Given the description of an element on the screen output the (x, y) to click on. 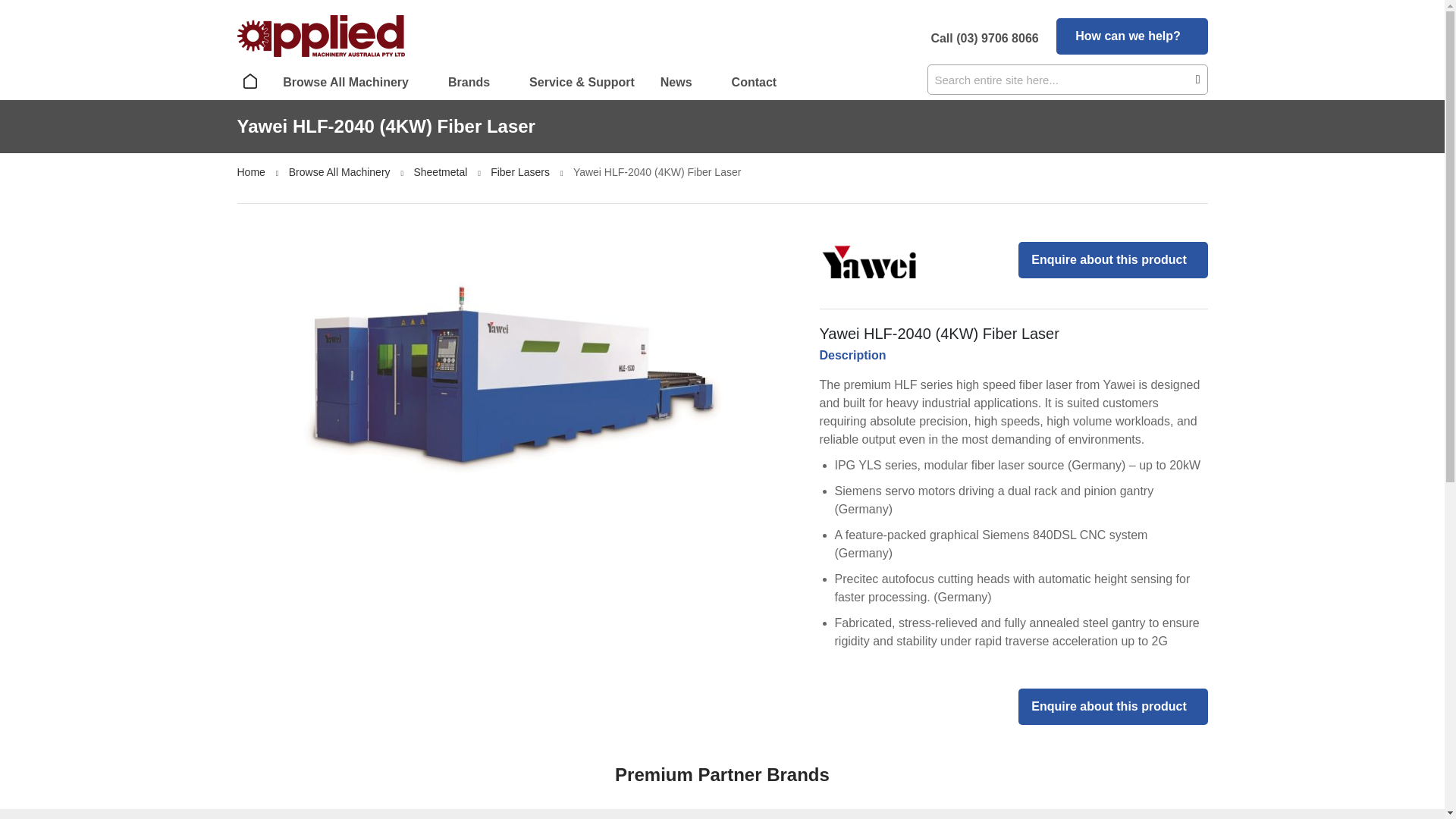
Go to Home Page (251, 172)
Browse All Machinery (351, 81)
How can we help? (1131, 36)
Appliedmachinery (319, 35)
